Given the description of an element on the screen output the (x, y) to click on. 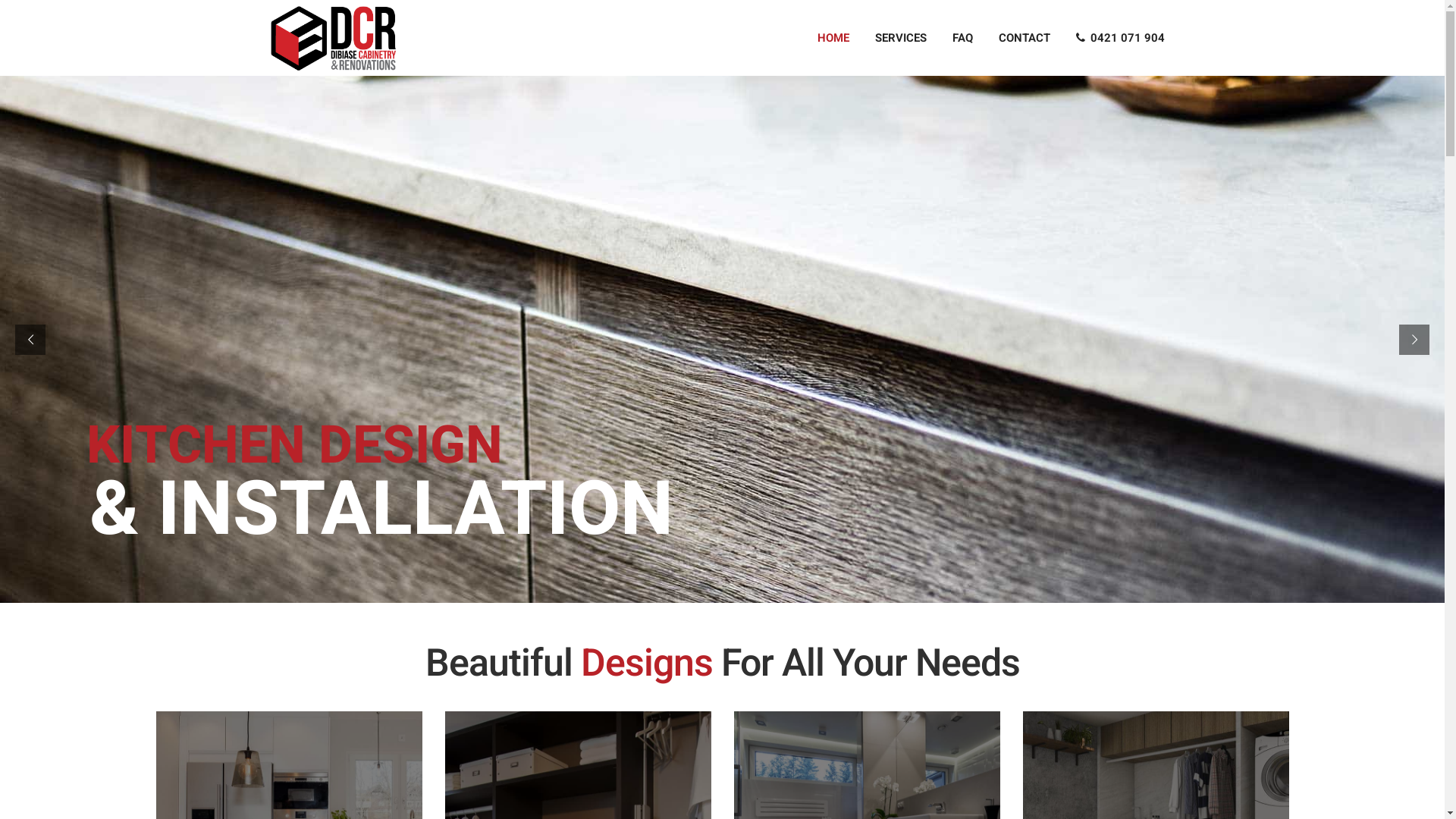
FAQ Element type: text (961, 37)
HOME Element type: text (832, 37)
SERVICES Element type: text (899, 37)
CONTACT Element type: text (1024, 37)
0421 071 904 Element type: text (1120, 37)
